Given the description of an element on the screen output the (x, y) to click on. 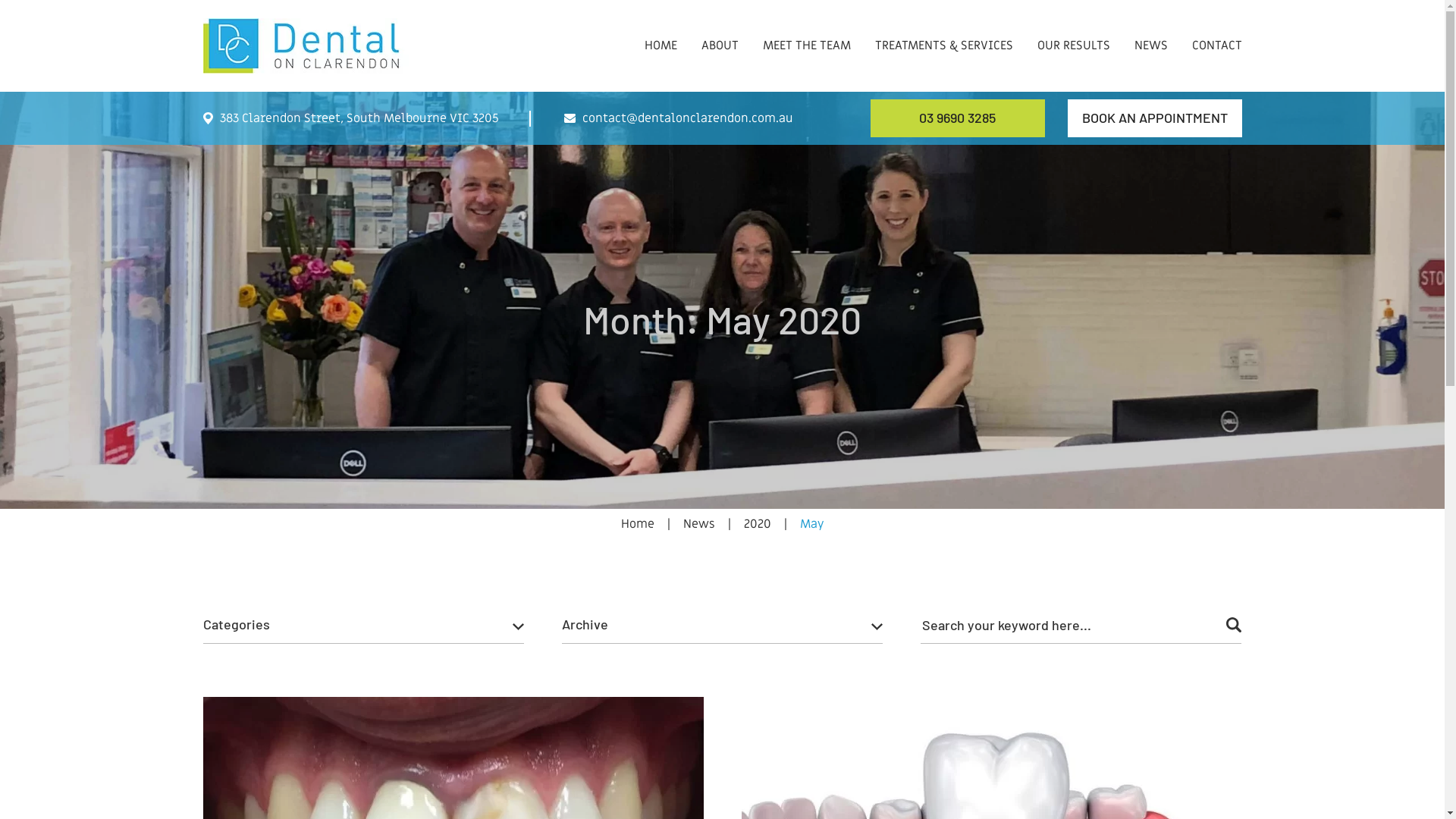
HOME Element type: text (660, 30)
NEWS Element type: text (1150, 30)
News Element type: text (698, 523)
Dental on Clarendon Element type: hover (305, 45)
03 9690 3285 Element type: text (957, 118)
2020 Element type: text (756, 523)
BOOK AN APPOINTMENT Element type: text (1154, 118)
OUR RESULTS Element type: text (1073, 30)
Home Element type: text (636, 523)
contact@dentalonclarendon.com.au Element type: text (678, 117)
CONTACT Element type: text (1217, 30)
TREATMENTS & SERVICES Element type: text (944, 30)
383 Clarendon Street, South Melbourne VIC 3205 Element type: text (350, 117)
MEET THE TEAM Element type: text (806, 30)
ABOUT Element type: text (718, 30)
